Given the description of an element on the screen output the (x, y) to click on. 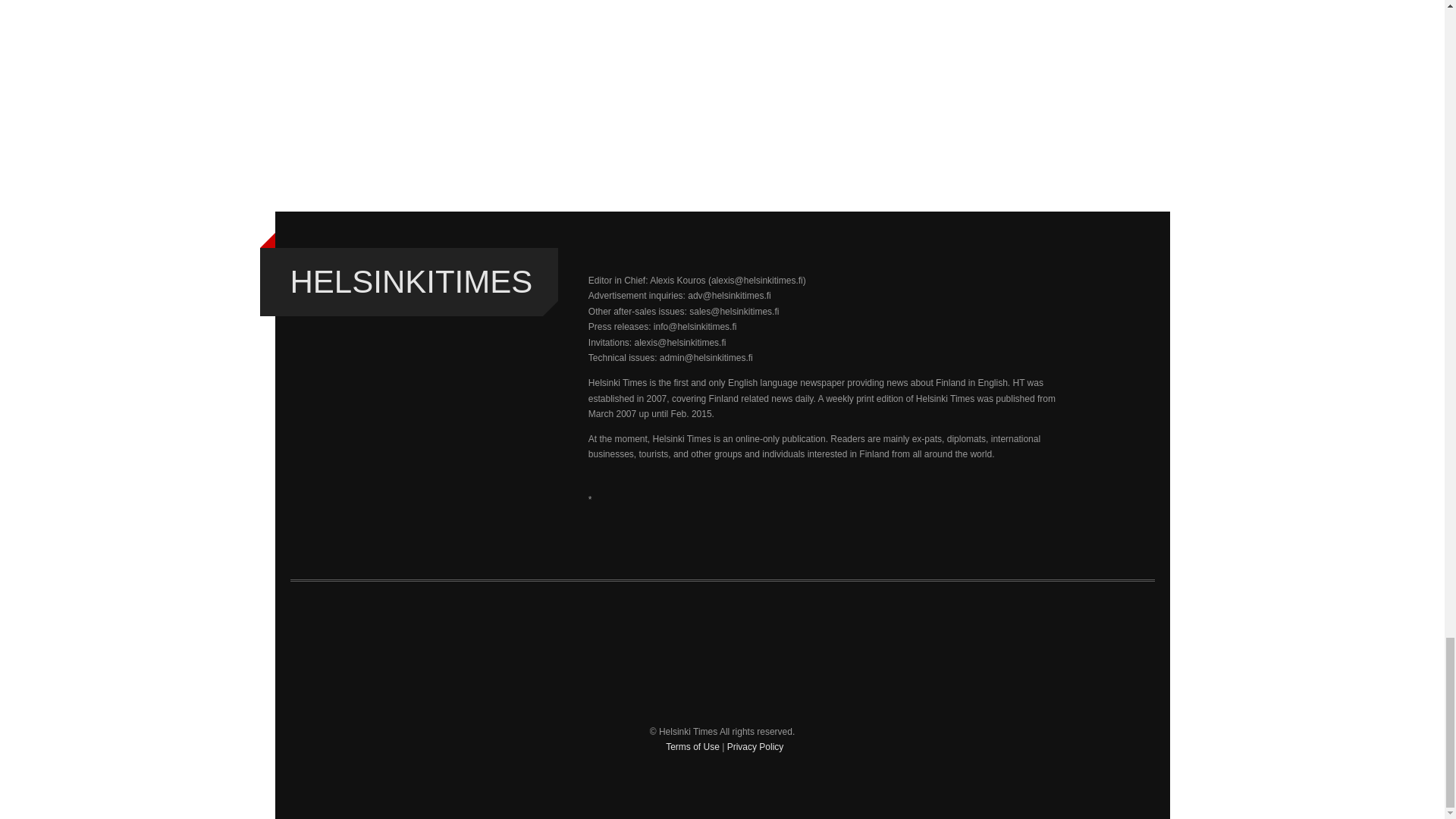
HelsinkiTimes (410, 282)
